Given the description of an element on the screen output the (x, y) to click on. 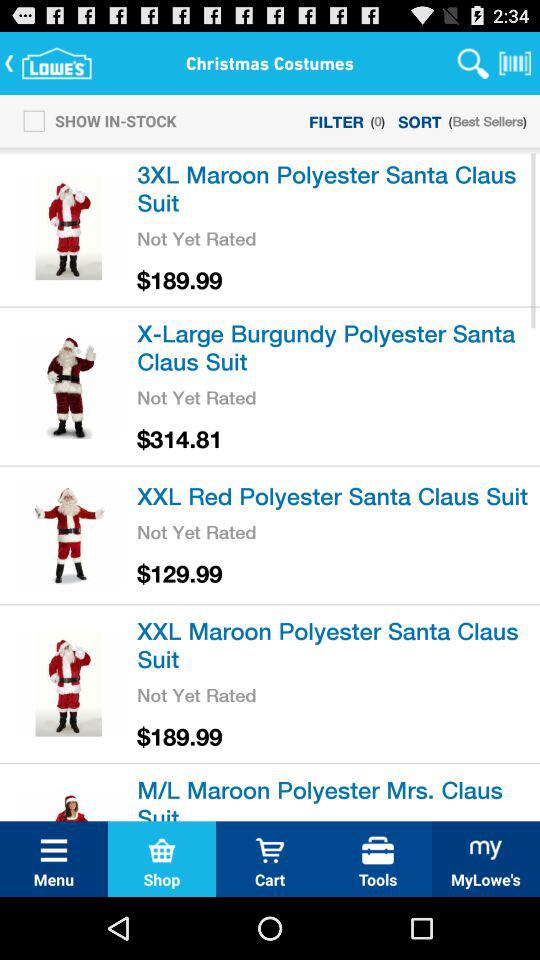
jump until x large burgundy (335, 346)
